Given the description of an element on the screen output the (x, y) to click on. 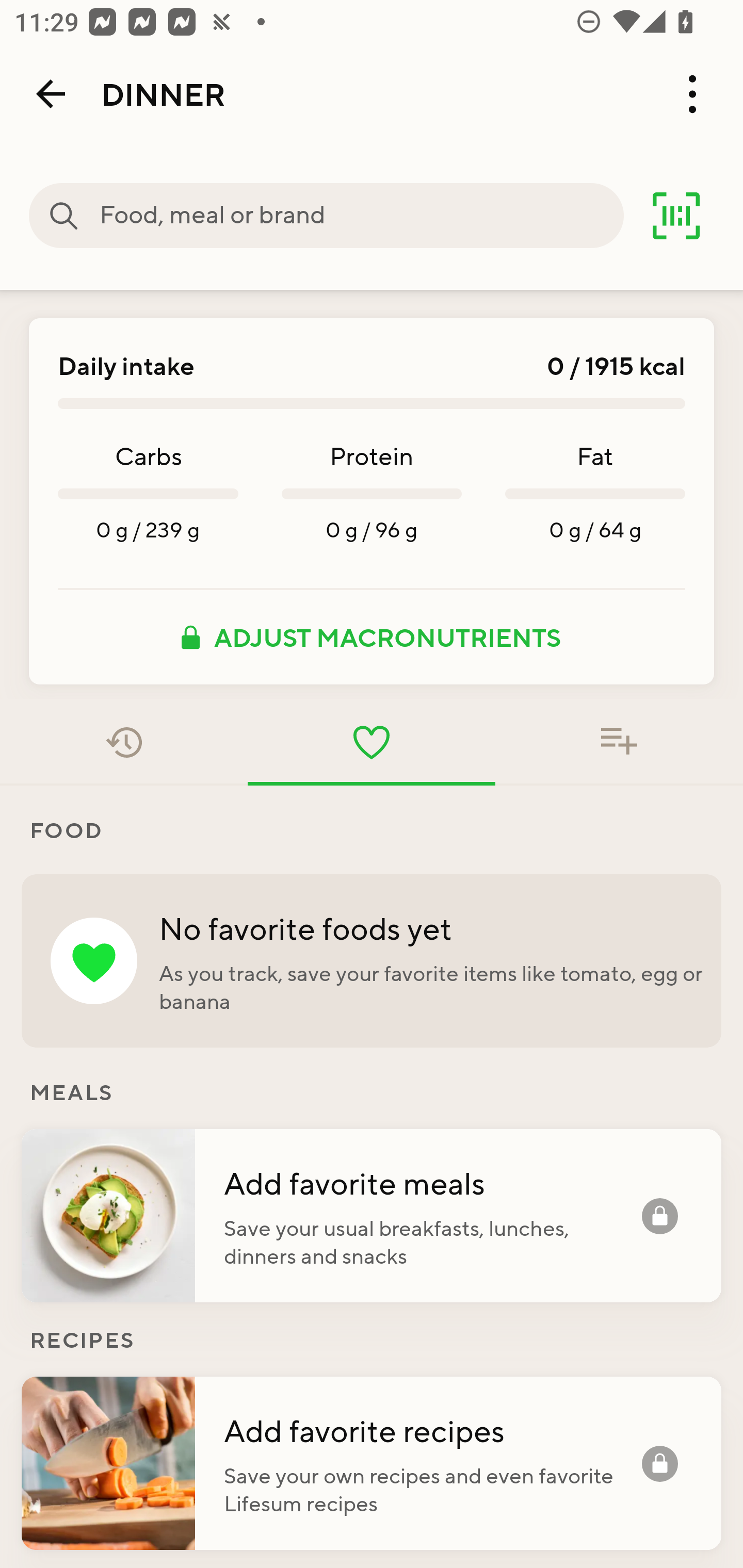
Back (50, 93)
Food, meal or brand (63, 215)
Food, meal or brand (361, 215)
ADJUST MACRONUTRIENTS (371, 637)
Recent (123, 742)
Food added (619, 742)
Add favorite meals (432, 1182)
Add favorite recipes (432, 1429)
